Given the description of an element on the screen output the (x, y) to click on. 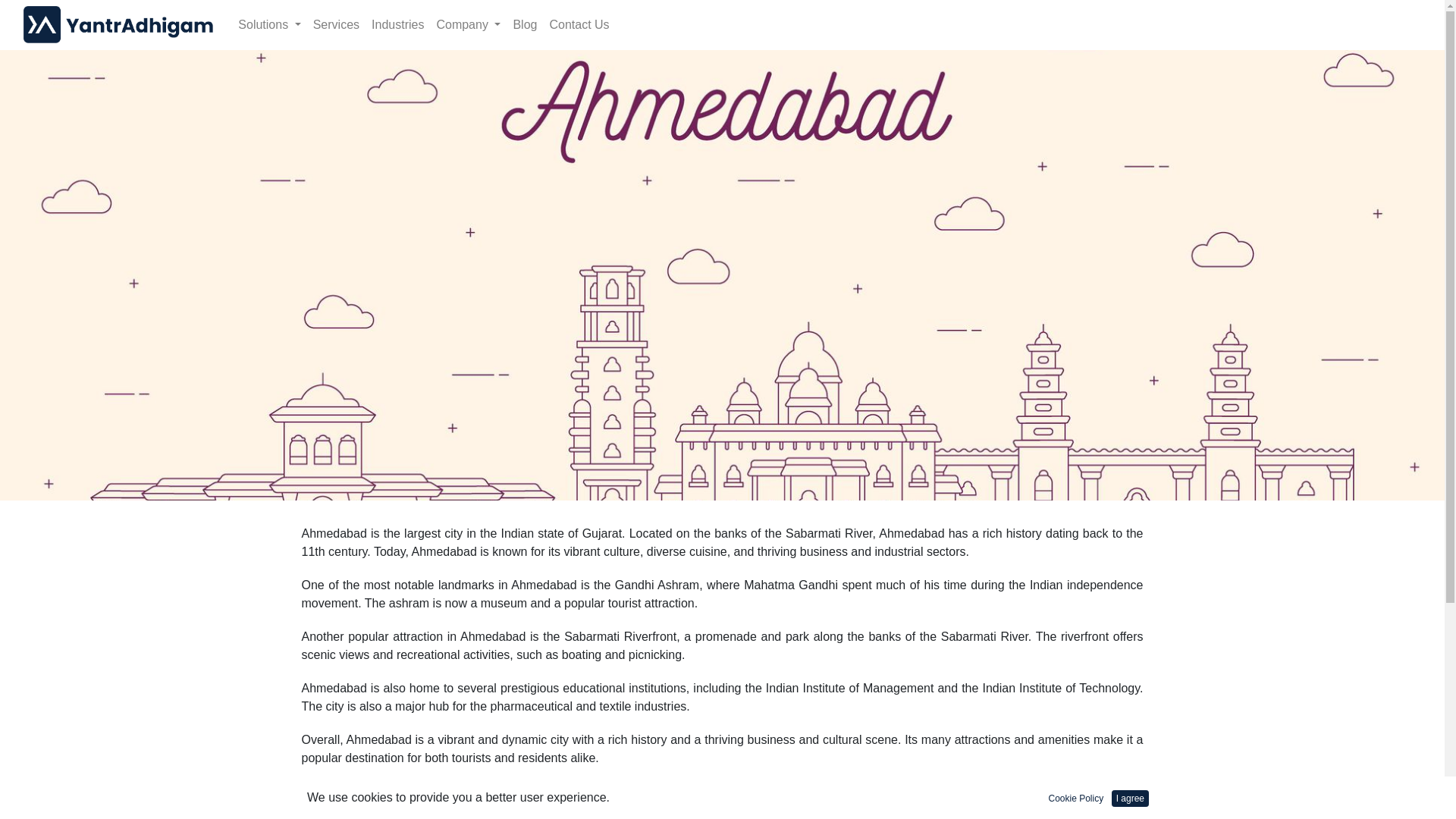
Solutions (268, 24)
Blog (524, 24)
Company (467, 24)
Industries (397, 24)
Contact Us (578, 24)
Cookie Policy (1075, 798)
I agree (1130, 798)
Yantradhigam (118, 24)
Services (336, 24)
